Given the description of an element on the screen output the (x, y) to click on. 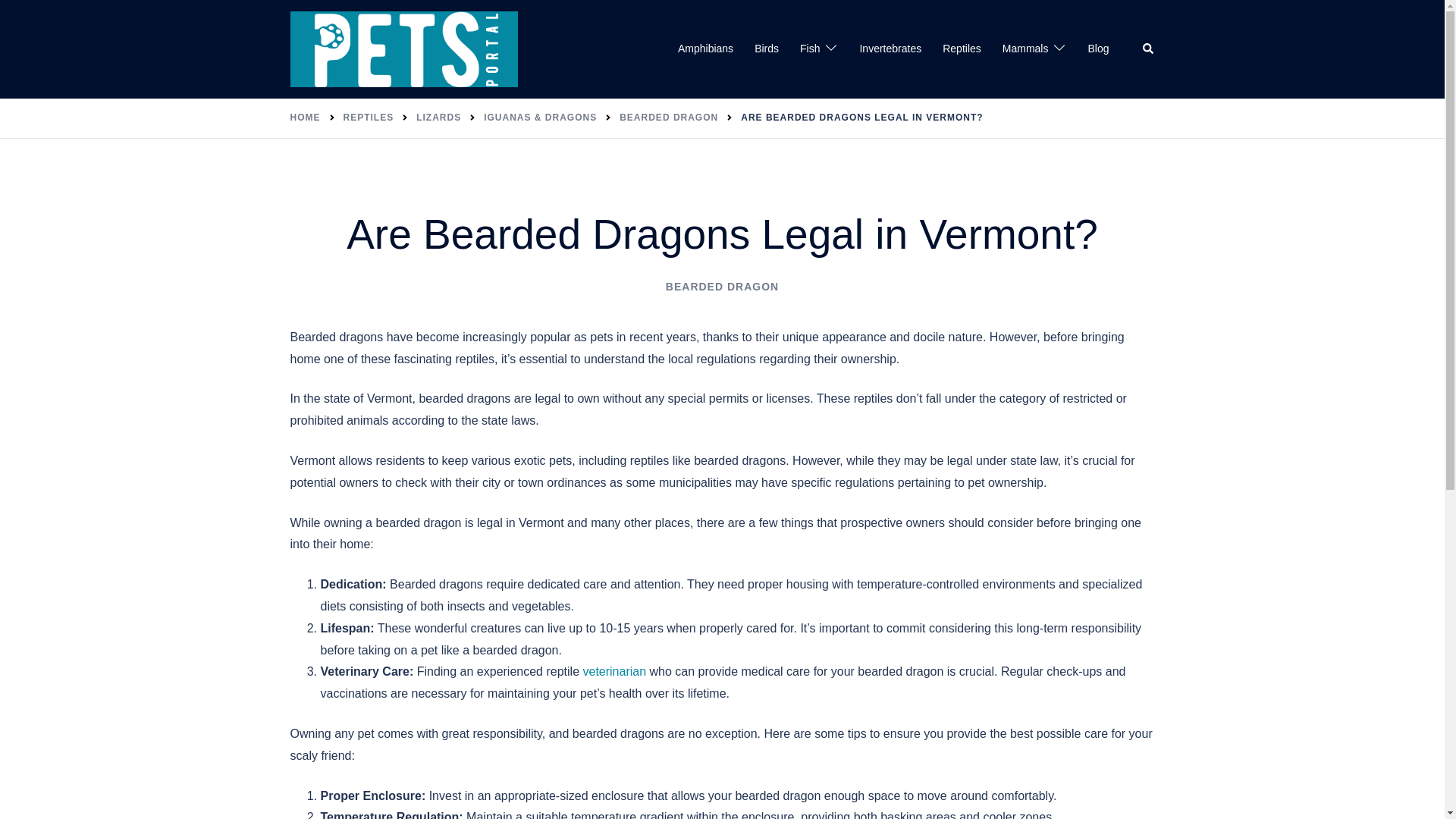
Invertebrates (890, 48)
Search (1147, 49)
Fish (809, 48)
Mammals (1025, 48)
Birds (766, 48)
Amphibians (705, 48)
ThePetsPortal.com (402, 47)
veterinarian (614, 671)
Blog (1097, 48)
Reptiles (961, 48)
